Given the description of an element on the screen output the (x, y) to click on. 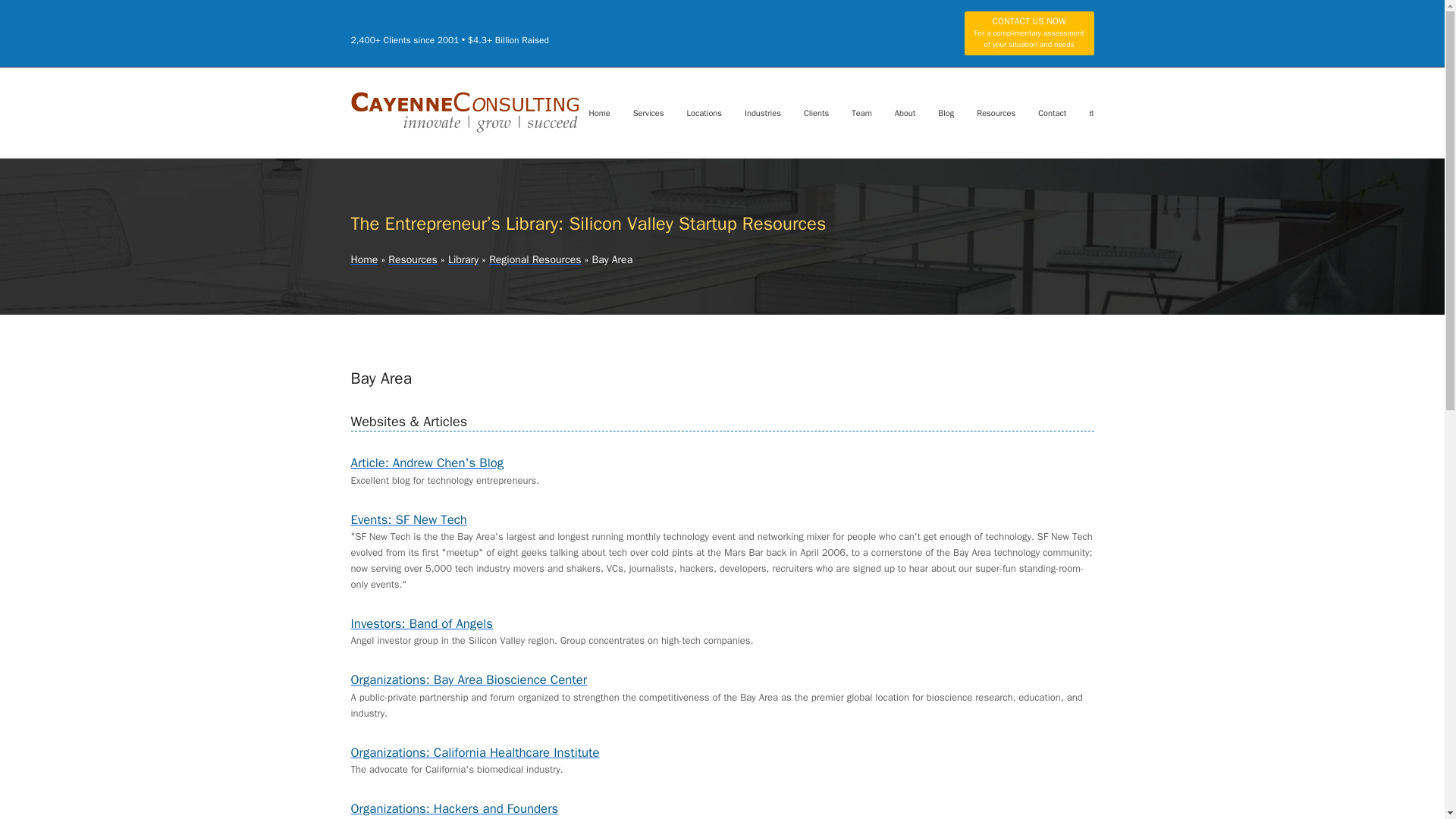
Industries (762, 112)
Services (648, 112)
Locations (704, 112)
Home (598, 112)
Contact us now for a free assessment (1028, 33)
